Given the description of an element on the screen output the (x, y) to click on. 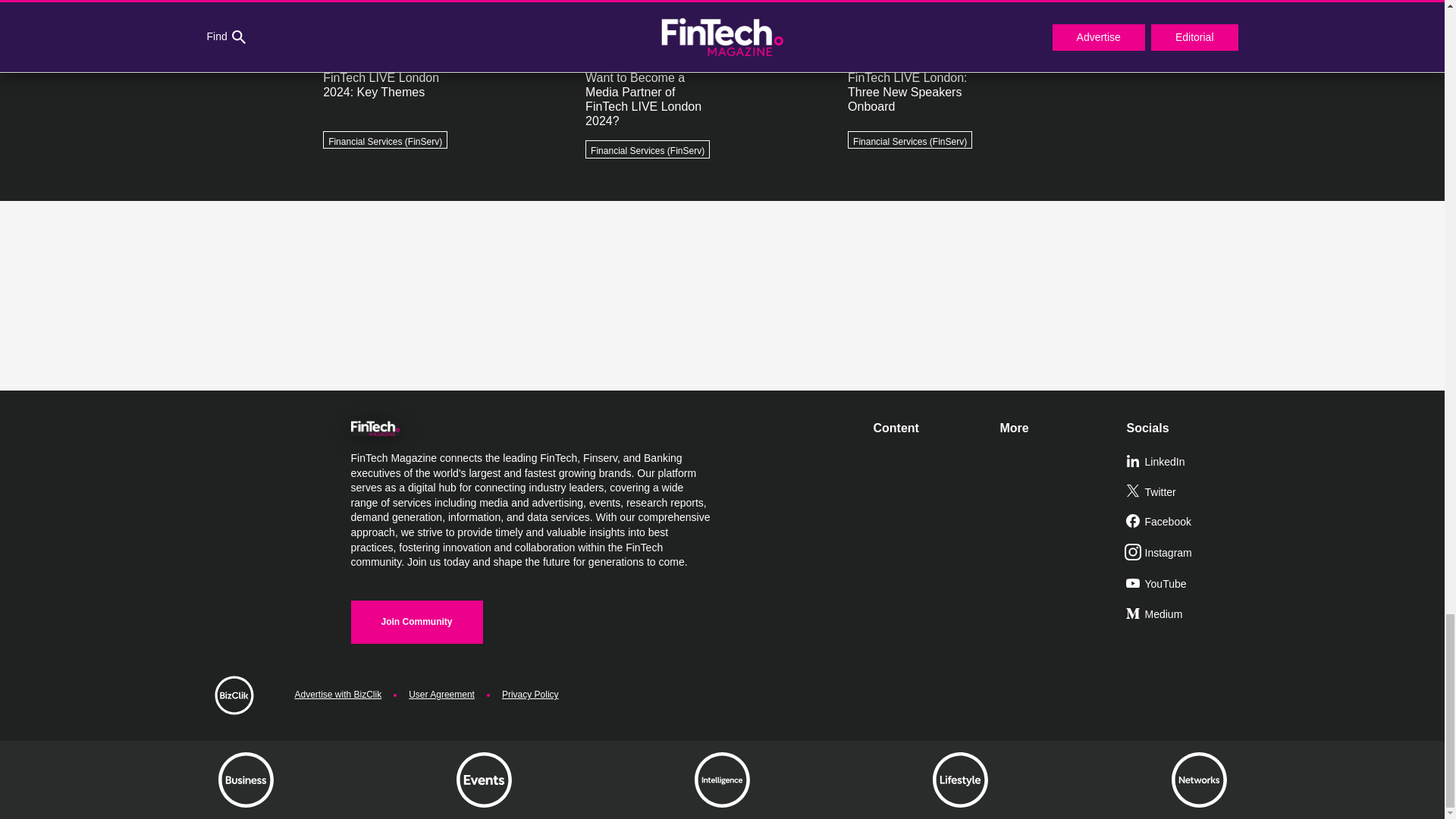
Join Community (415, 621)
